Given the description of an element on the screen output the (x, y) to click on. 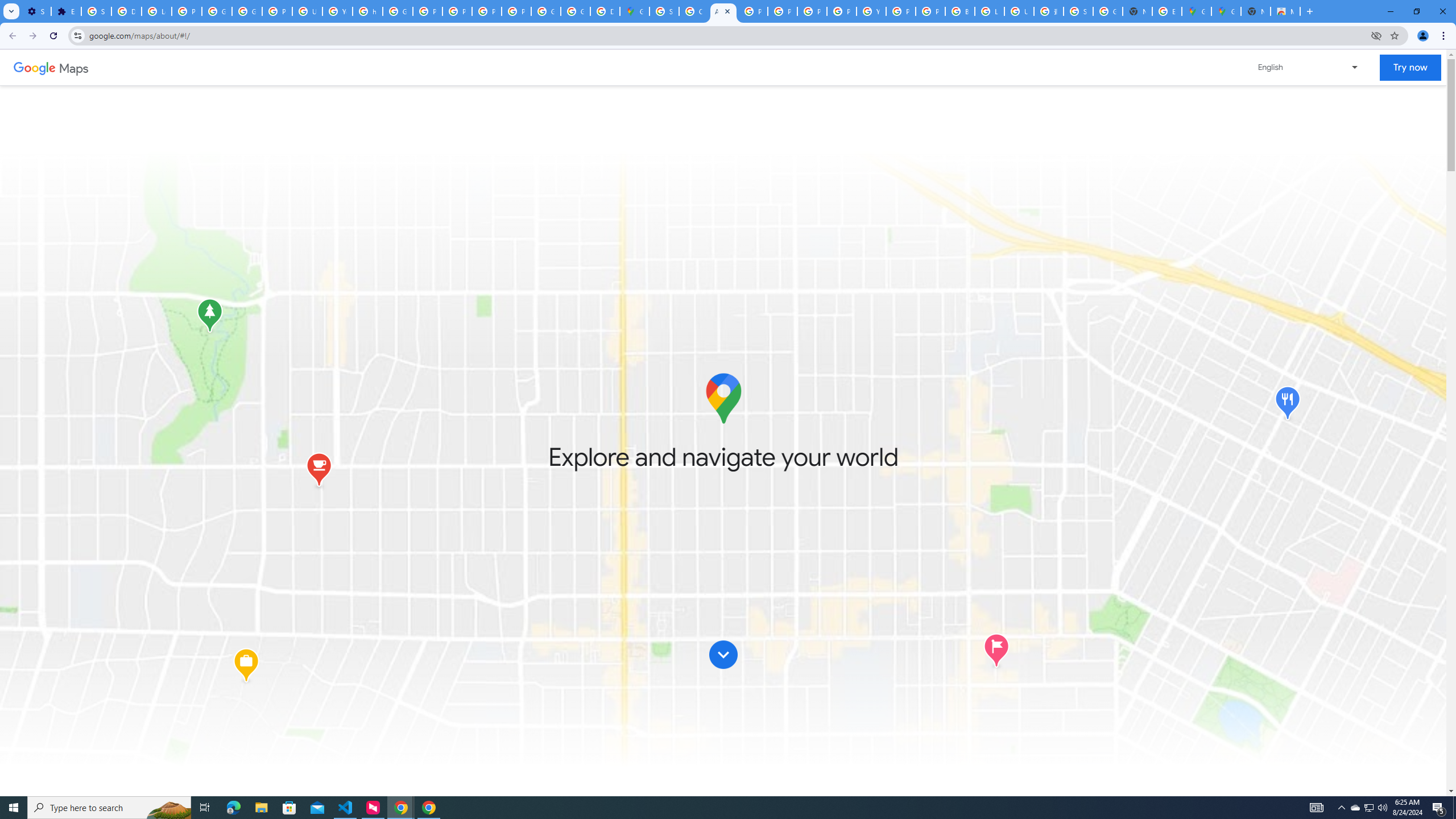
Extensions (65, 11)
Maps (73, 67)
Change language or region (1308, 66)
Privacy Help Center - Policies Help (811, 11)
Google Maps logo (722, 398)
